Given the description of an element on the screen output the (x, y) to click on. 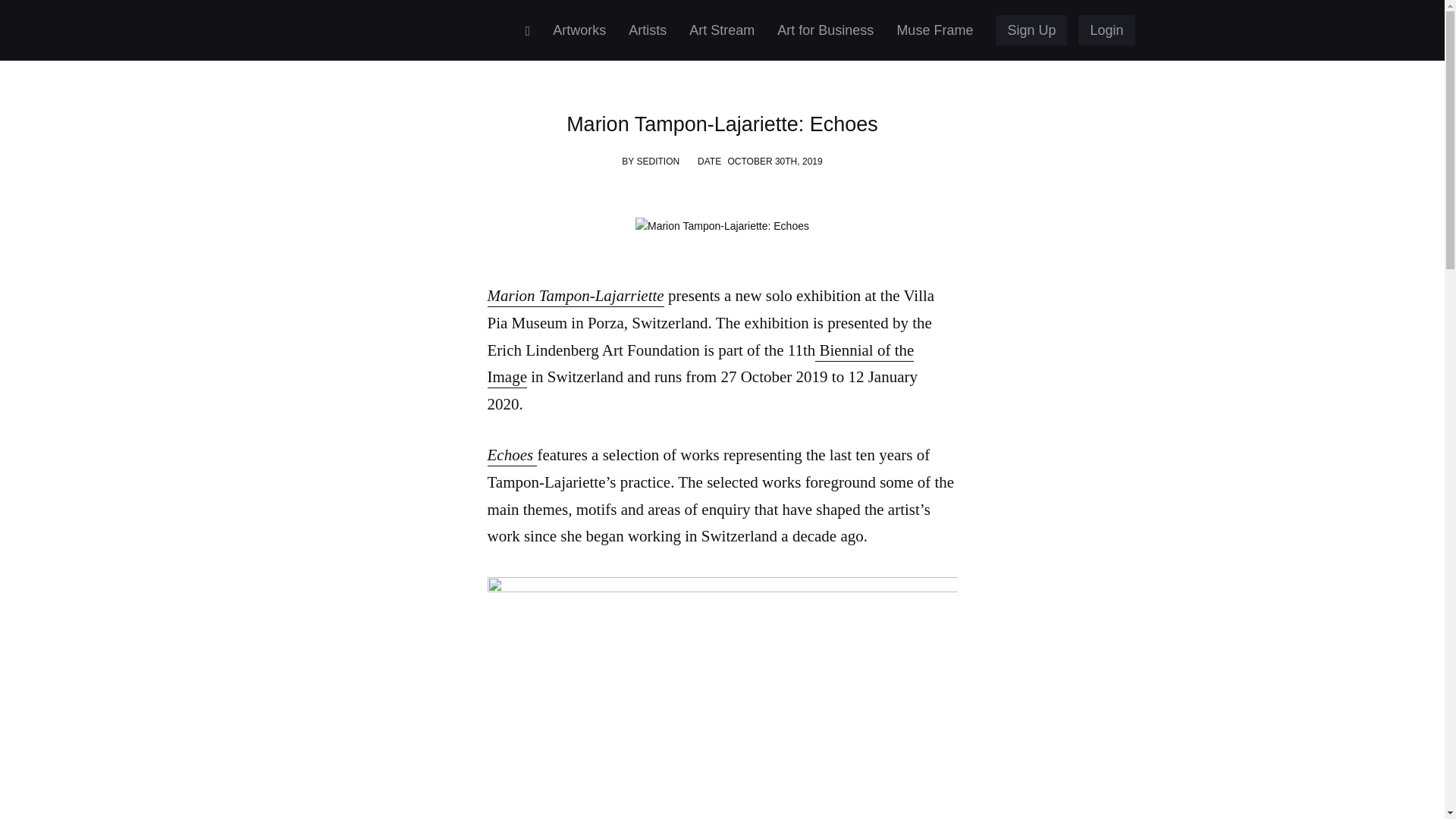
Login (1106, 30)
Art Stream (721, 30)
Artworks (579, 30)
Art for Business (825, 30)
Sign Up (1031, 30)
Muse Frame (934, 30)
SEDITION (657, 161)
Biennial of the Image (700, 365)
Echoes (511, 455)
Artists (647, 30)
